Given the description of an element on the screen output the (x, y) to click on. 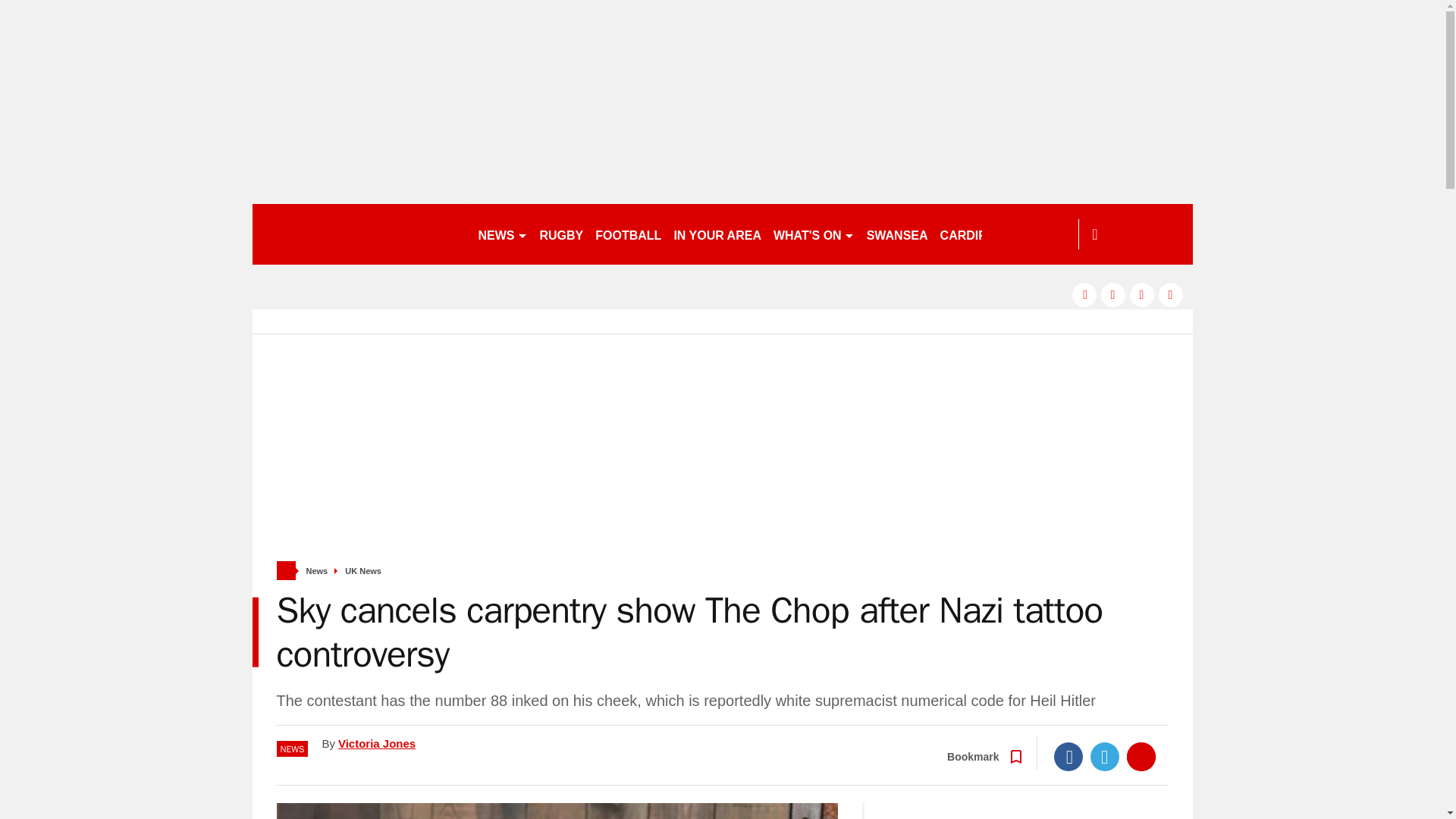
NEWS (501, 233)
FOOTBALL (627, 233)
Twitter (1104, 756)
walesonline (357, 233)
IN YOUR AREA (716, 233)
instagram (1170, 294)
SWANSEA (897, 233)
twitter (1112, 294)
facebook (1083, 294)
WHAT'S ON (813, 233)
RUGBY (561, 233)
pinterest (1141, 294)
Facebook (1068, 756)
